Given the description of an element on the screen output the (x, y) to click on. 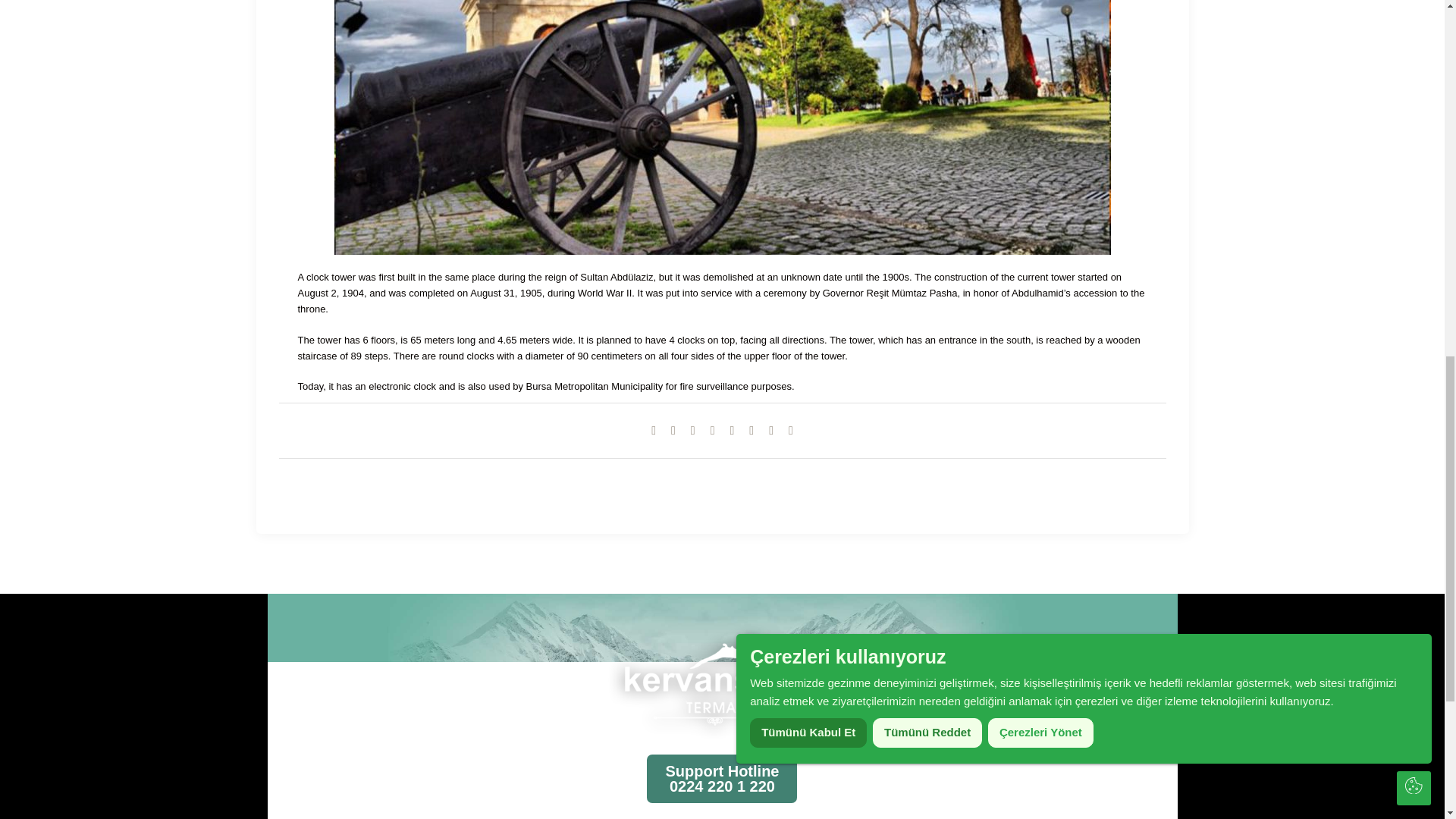
whatsapp (770, 429)
Facebook (672, 429)
Mail to friend (731, 429)
linkedin (751, 429)
VK (692, 429)
Pinterest (712, 429)
